Given the description of an element on the screen output the (x, y) to click on. 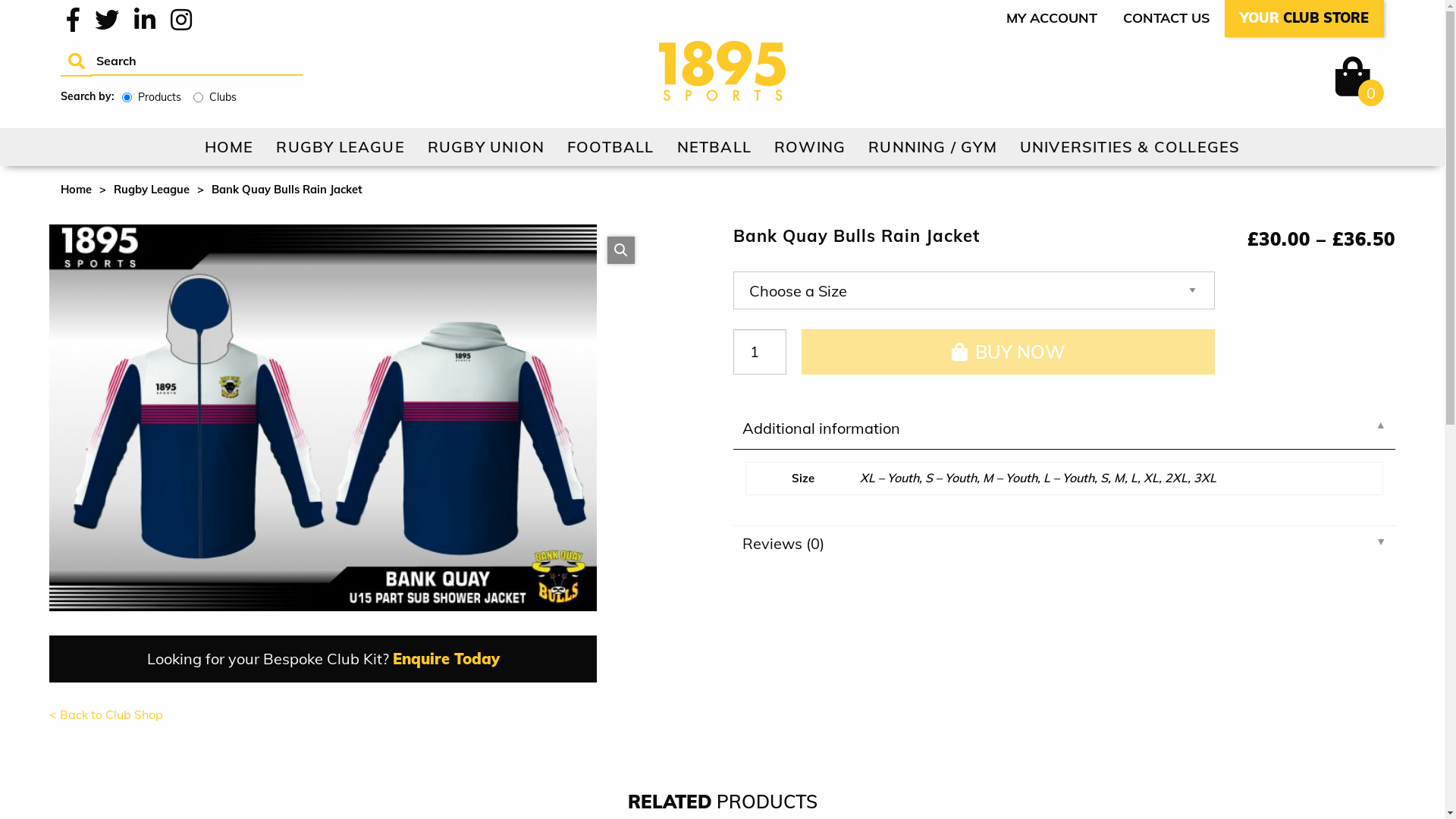
FOOTBALL Element type: text (610, 147)
NETBALL Element type: text (713, 147)
HOME Element type: text (229, 147)
MY ACCOUNT Element type: text (1051, 18)
0 Element type: text (1347, 76)
BUY NOW Element type: text (1007, 351)
bank quay- part sub shower jacket-01 Element type: hover (322, 417)
Looking for your Bespoke Club Kit? Enquire Today Element type: text (322, 658)
Rugby League Element type: text (151, 189)
RUNNING / GYM Element type: text (932, 147)
CONTACT US Element type: text (1166, 18)
Home Element type: text (75, 189)
RUGBY LEAGUE Element type: text (339, 147)
UNIVERSITIES & COLLEGES Element type: text (1130, 147)
RUGBY UNION Element type: text (485, 147)
ROWING Element type: text (809, 147)
< Back to Club Shop Element type: text (322, 721)
YOUR CLUB STORE Element type: text (1303, 18)
Search for: Element type: hover (196, 60)
